Given the description of an element on the screen output the (x, y) to click on. 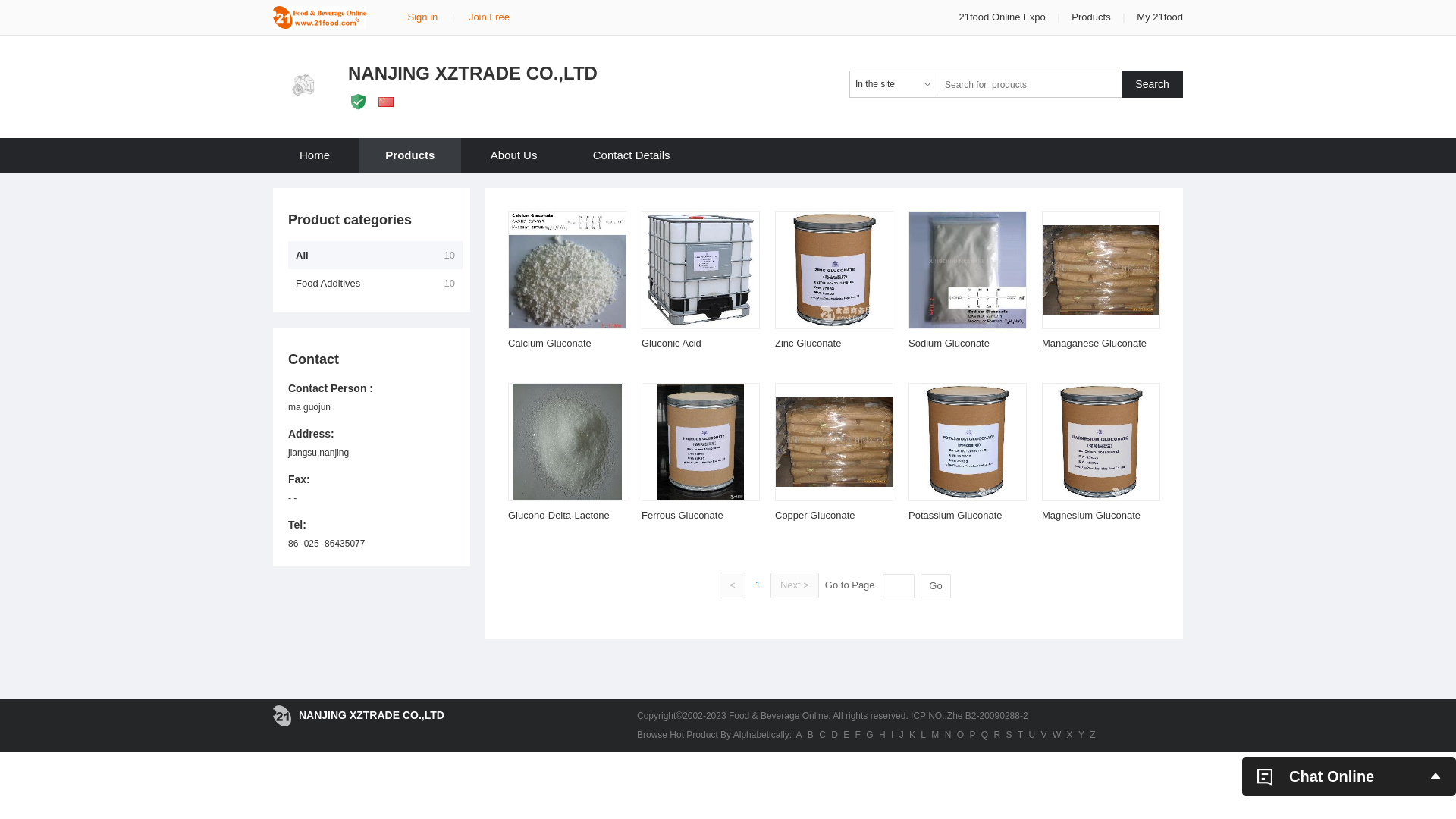
R Element type: text (996, 734)
Products Element type: text (409, 155)
Q Element type: text (984, 734)
P Element type: text (972, 734)
I Element type: text (892, 734)
T Element type: text (1019, 734)
L Element type: text (922, 734)
Ferrous Gluconate Element type: text (682, 514)
Potassium Gluconate Element type: text (955, 514)
Contact Details Element type: text (631, 155)
X Element type: text (1069, 734)
Copper Gluconate Element type: text (815, 514)
E Element type: text (846, 734)
B Element type: text (810, 734)
Home Element type: text (314, 155)
Calcium Gluconate Element type: text (549, 342)
Sodium Gluconate Element type: text (948, 342)
W Element type: text (1056, 734)
My 21food Element type: text (1159, 16)
O Element type: text (960, 734)
Z Element type: text (1092, 734)
Go Element type: text (935, 586)
Sign in Element type: text (422, 16)
J Element type: text (901, 734)
Join Free Element type: text (488, 16)
F Element type: text (857, 734)
Zinc Gluconate Element type: text (807, 342)
Managanese Gluconate Element type: text (1093, 342)
D Element type: text (834, 734)
V Element type: text (1044, 734)
S Element type: text (1008, 734)
U Element type: text (1032, 734)
N Element type: text (947, 734)
Y Element type: text (1081, 734)
M Element type: text (934, 734)
A Element type: text (798, 734)
Products Element type: text (1090, 16)
H Element type: text (881, 734)
Search Element type: text (1152, 83)
C Element type: text (822, 734)
21food Online Expo Element type: text (1003, 16)
K Element type: text (912, 734)
Gluconic Acid Element type: text (671, 342)
Magnesium Gluconate Element type: text (1090, 514)
G Element type: text (869, 734)
Glucono-Delta-Lactone Element type: text (558, 514)
About Us Element type: text (514, 155)
